Given the description of an element on the screen output the (x, y) to click on. 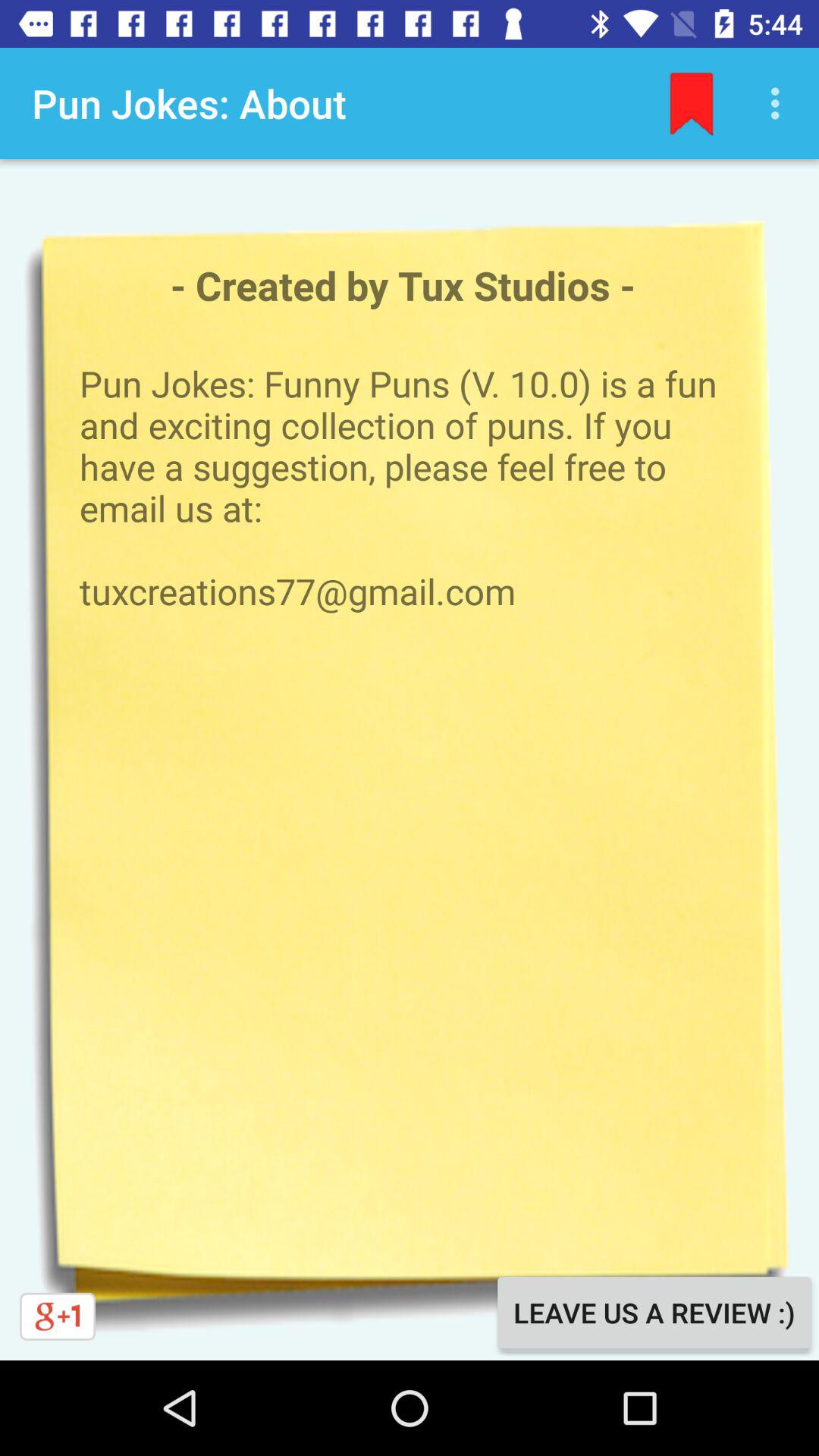
launch app to the right of the pun jokes: about (691, 103)
